Given the description of an element on the screen output the (x, y) to click on. 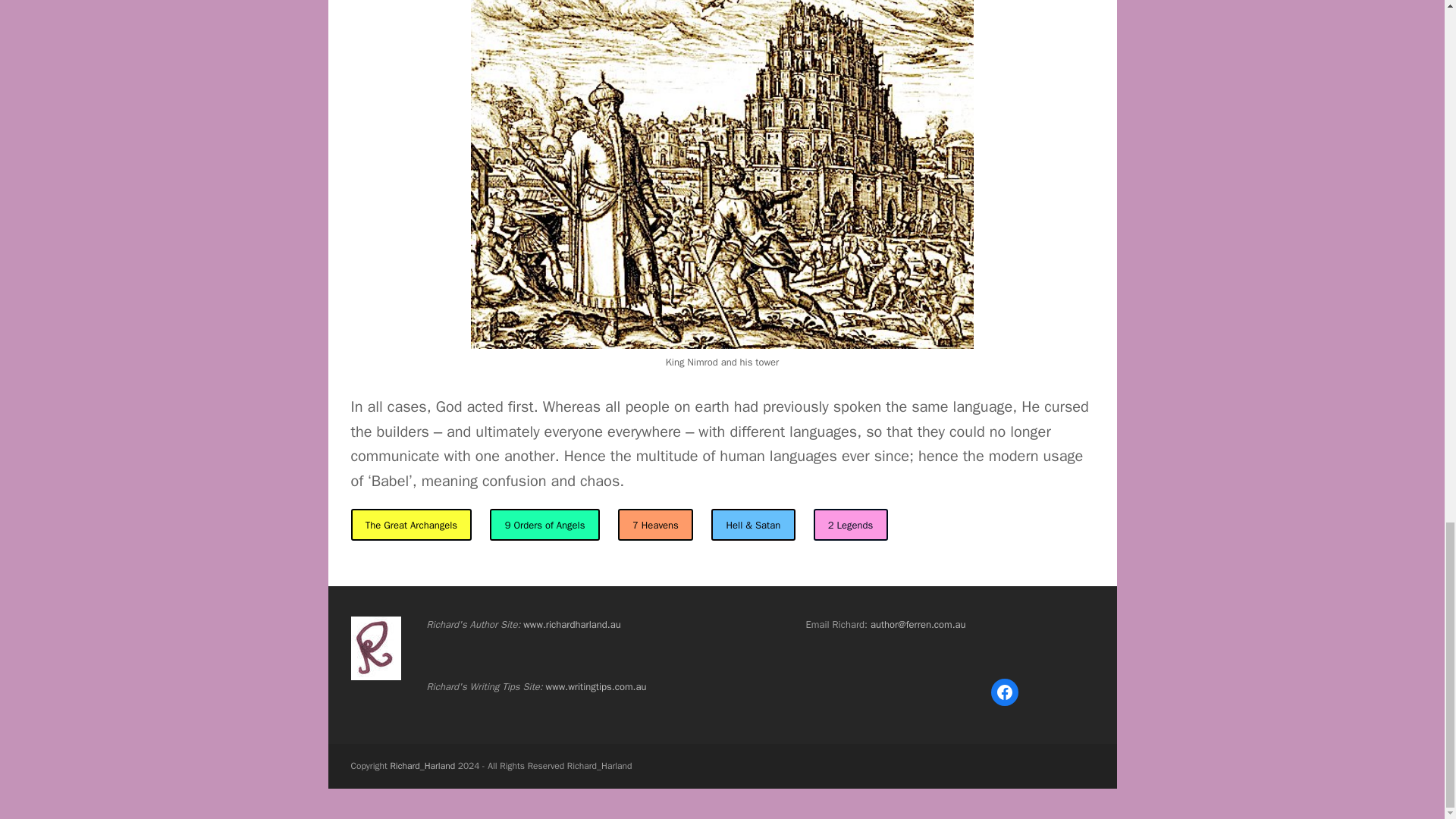
9 Orders of Angels (543, 524)
The Great Archangels (410, 524)
2 Legends (850, 524)
7 Heavens (655, 524)
